Given the description of an element on the screen output the (x, y) to click on. 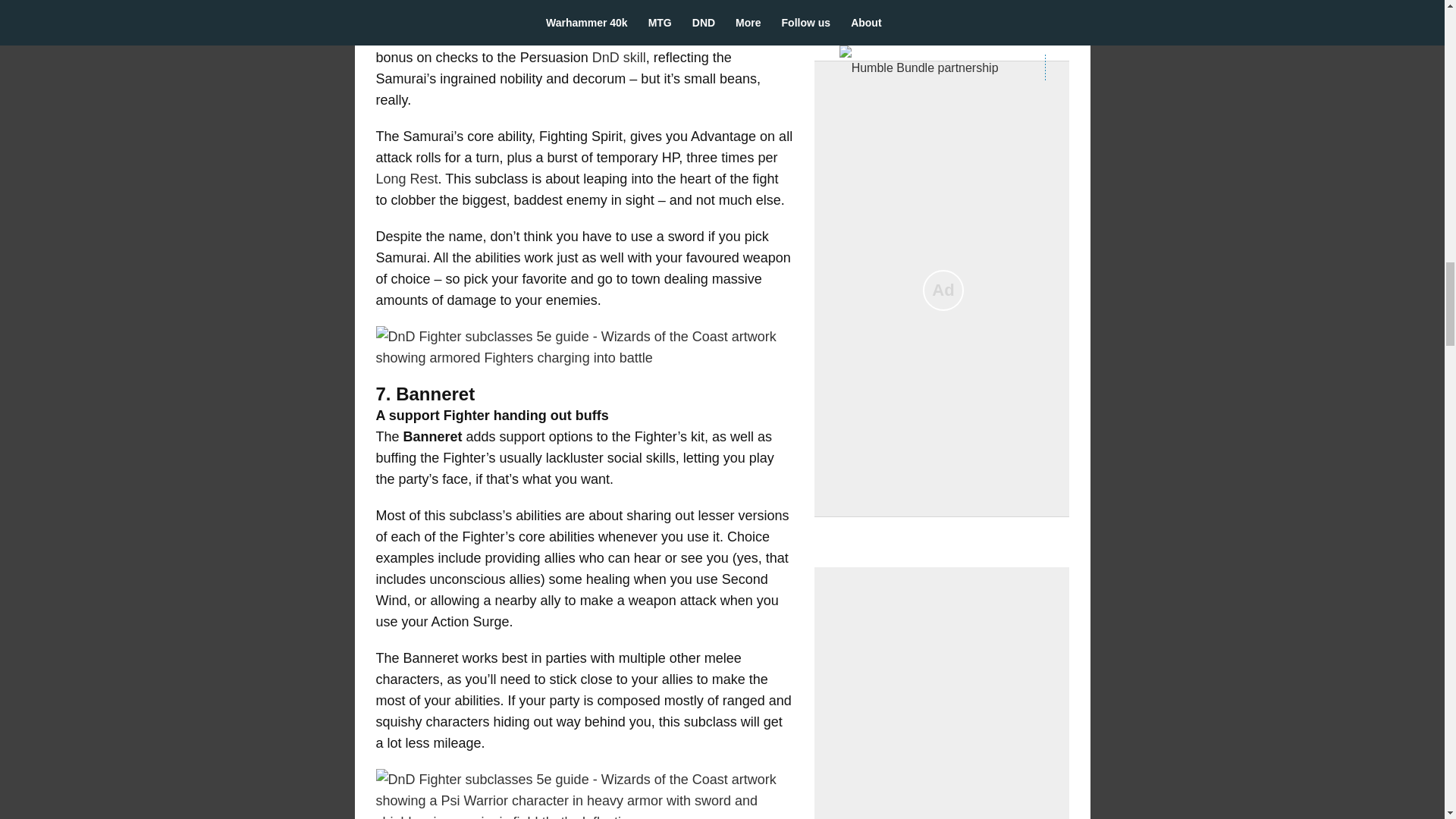
dnd-fighter-subclasses-5e-inspiring-charge (584, 346)
dnd-fighter-subclasses-psi-warrior-shield (584, 794)
